Given the description of an element on the screen output the (x, y) to click on. 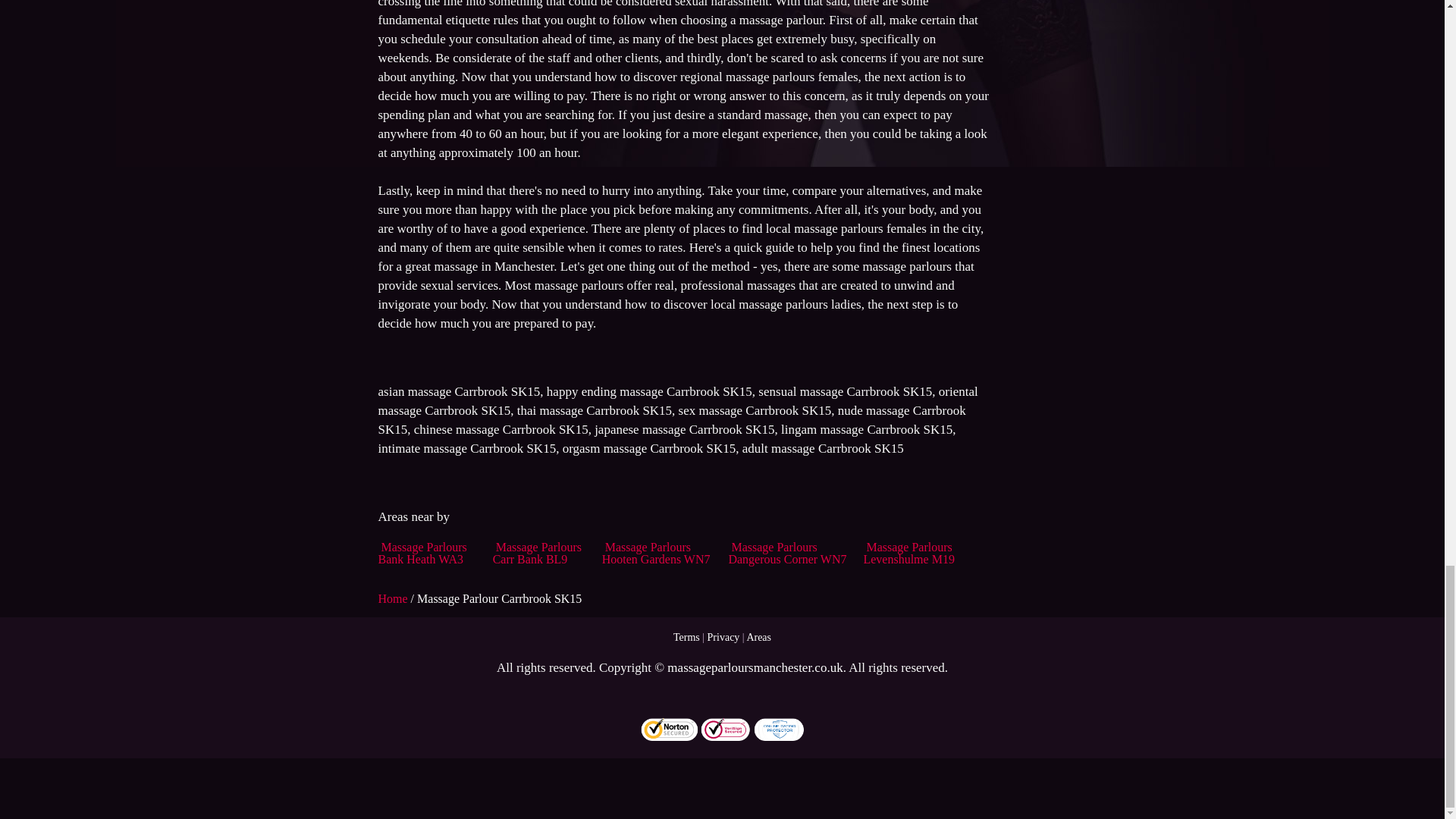
Areas (758, 636)
Massage Parlours Levenshulme M19 (908, 552)
massageparloursmanchester.co.uk (754, 667)
Massage Parlours Dangerous Corner WN7 (786, 552)
Massage Parlours Bank Heath WA3 (421, 552)
Areas (758, 636)
Home (393, 598)
Massage Parlours Hooten Gardens WN7 (656, 552)
Terms (686, 636)
Massage Parlours Carr Bank BL9 (536, 552)
Terms (686, 636)
Privacy (723, 636)
Privacy (723, 636)
massageparloursmanchester.co.uk (754, 667)
